Given the description of an element on the screen output the (x, y) to click on. 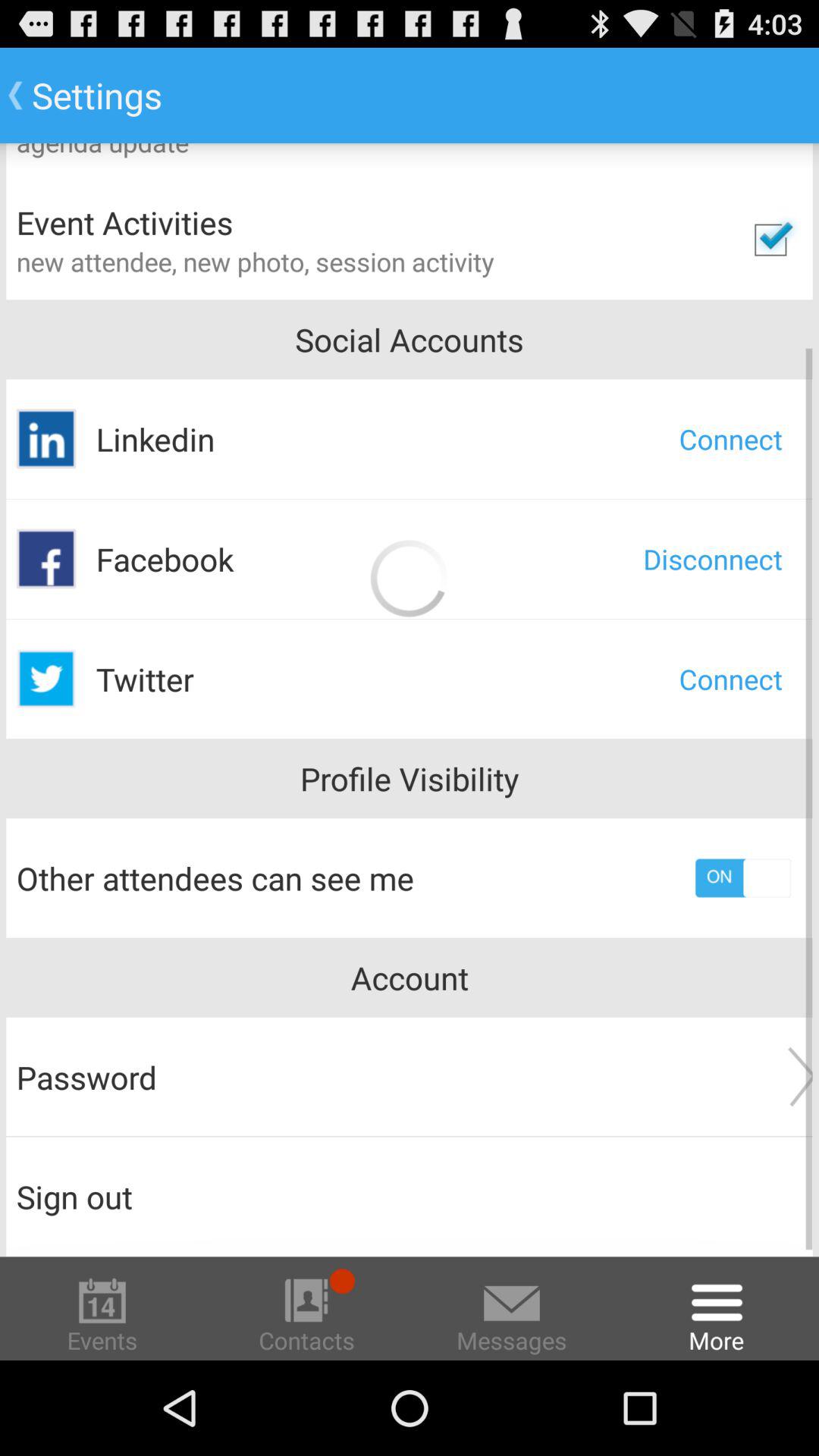
toggle profile visibility option (742, 877)
